Given the description of an element on the screen output the (x, y) to click on. 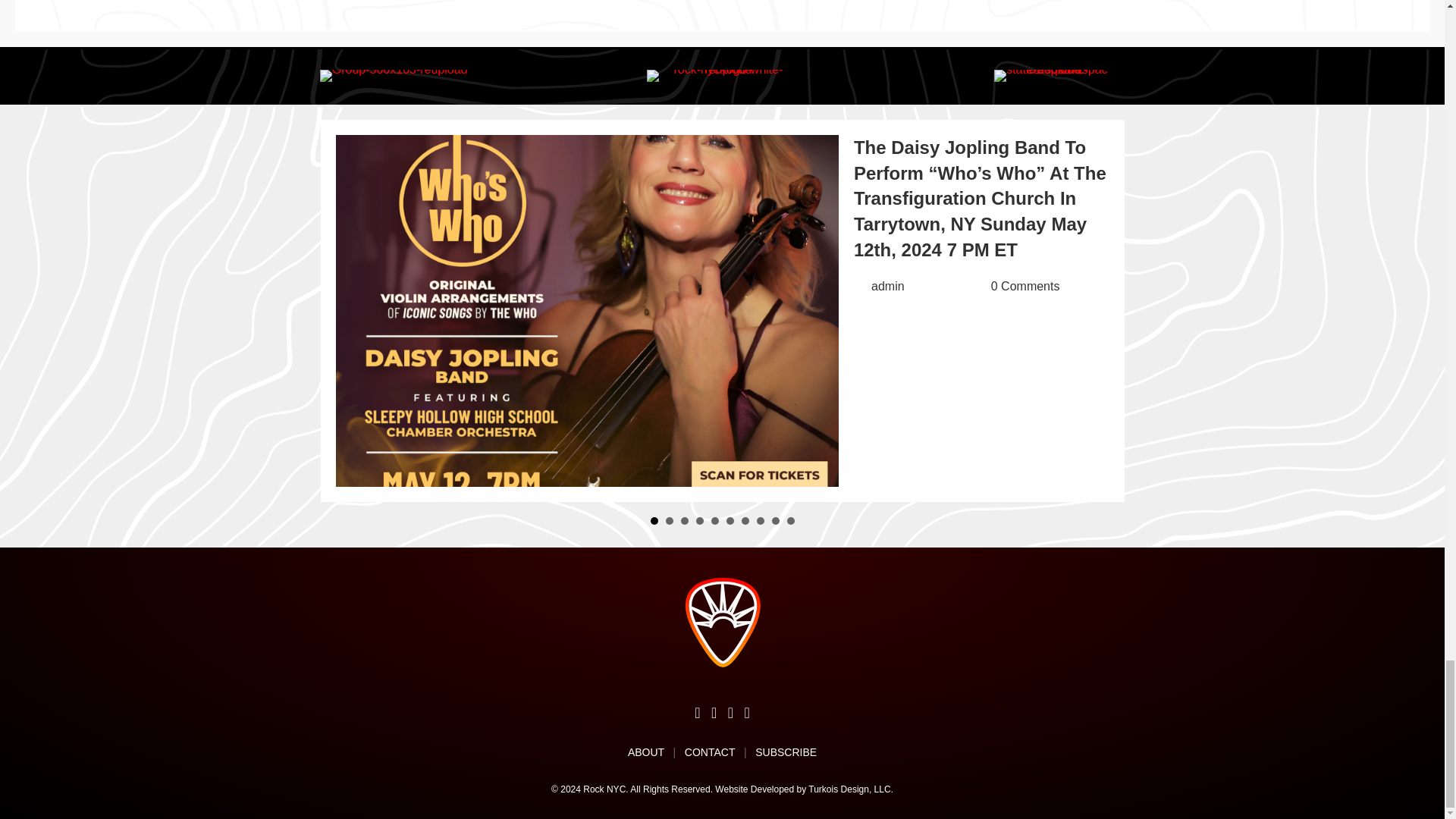
static1.squarespace-500x371-reupload (1051, 75)
Group-500x103-reupload (393, 75)
rock-nyc-logo-white-reupload (721, 75)
